Given the description of an element on the screen output the (x, y) to click on. 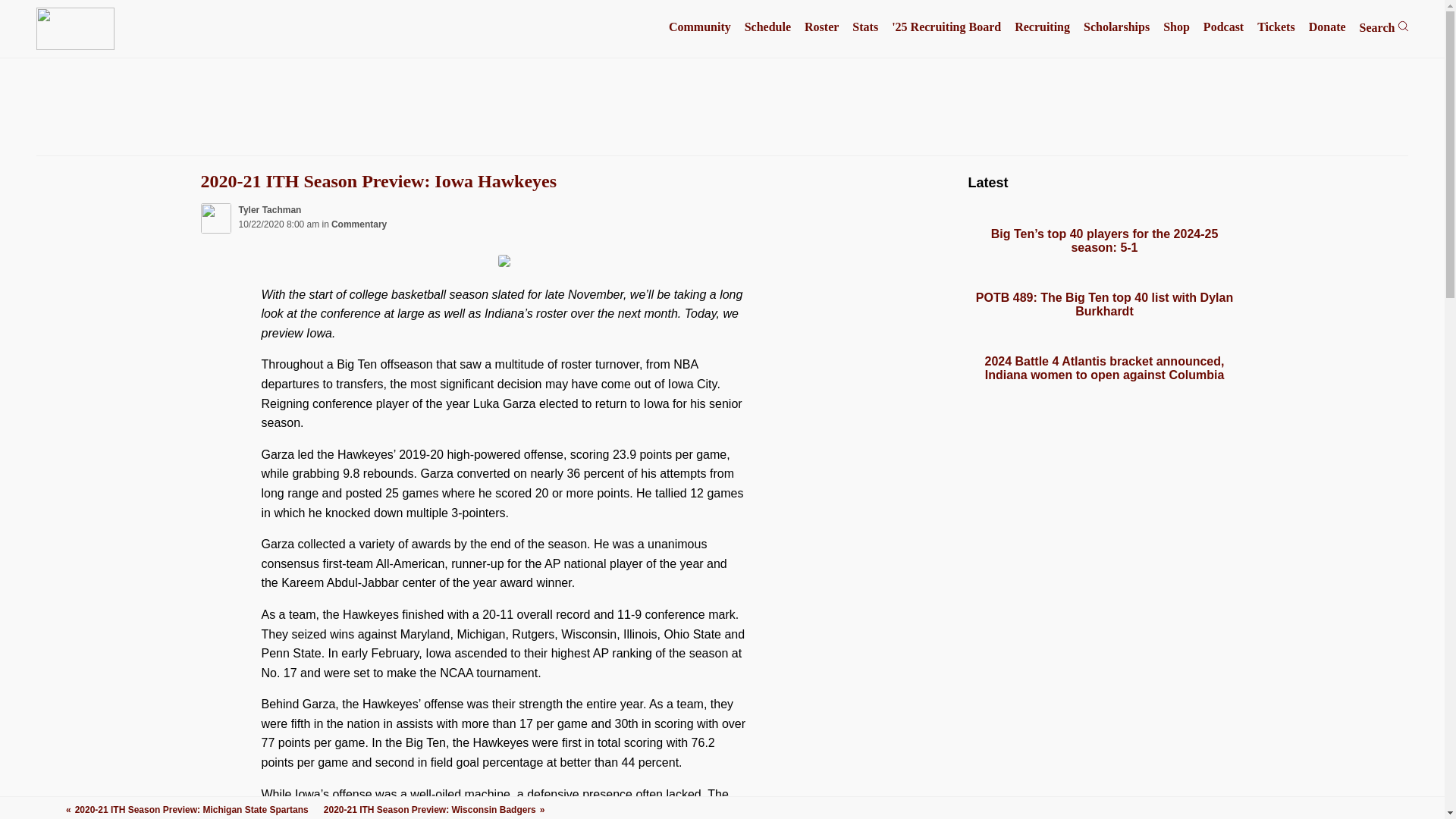
Roster (821, 26)
Donate (1326, 26)
search (1402, 25)
Podcast (1223, 26)
Search search (1384, 27)
Tyler Tachman (269, 209)
Shop (1176, 26)
Community (699, 26)
Schedule (767, 26)
Recruiting (1042, 26)
